Given the description of an element on the screen output the (x, y) to click on. 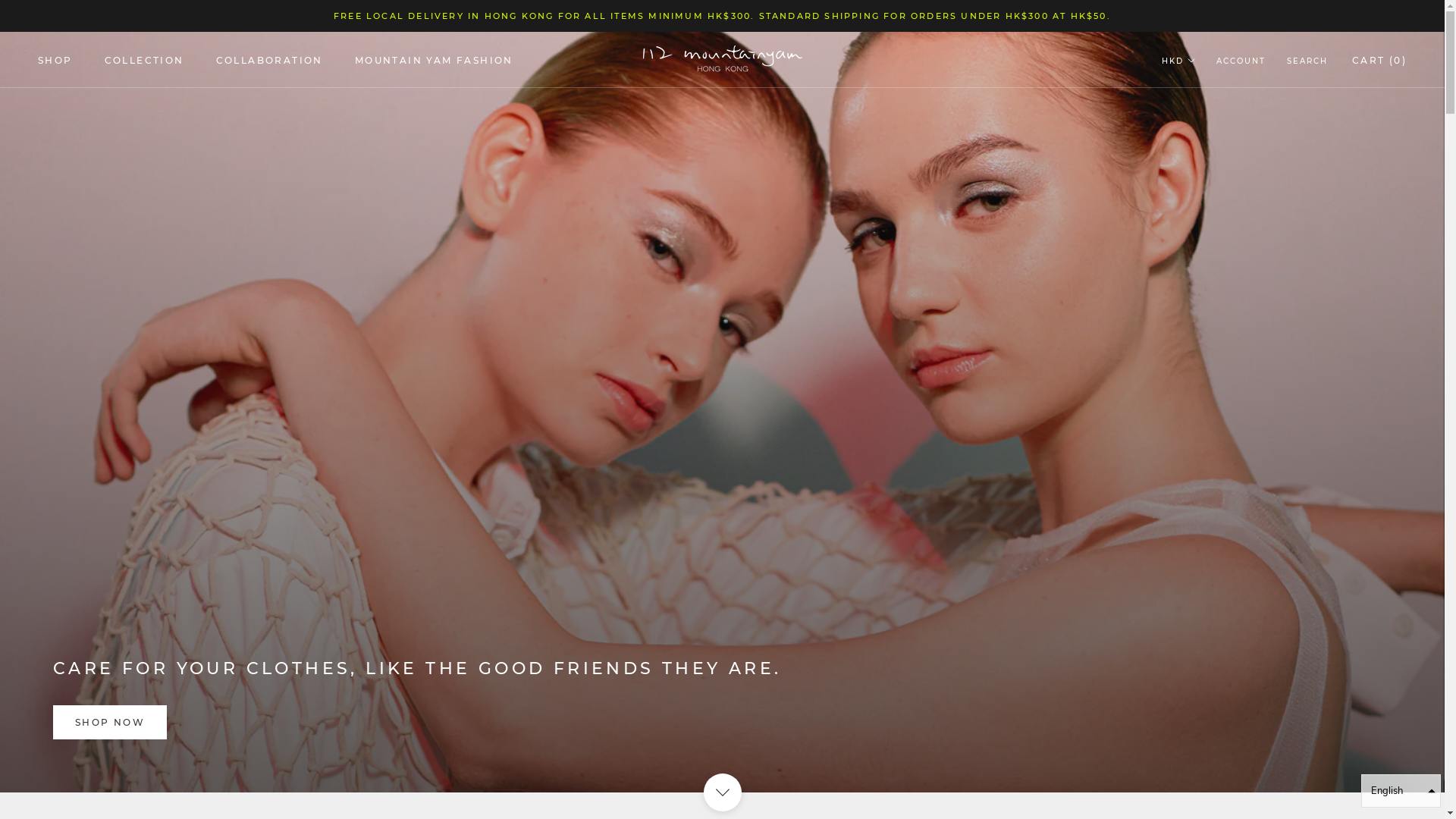
SHOP
SHOP Element type: text (54, 59)
COLLECTION Element type: text (144, 59)
SEARCH Element type: text (1306, 61)
SHOP NOW Element type: text (109, 722)
MOUNTAIN YAM FASHION Element type: text (433, 59)
ACCOUNT Element type: text (1240, 61)
CART (0) Element type: text (1379, 59)
COLLABORATION Element type: text (269, 59)
